Given the description of an element on the screen output the (x, y) to click on. 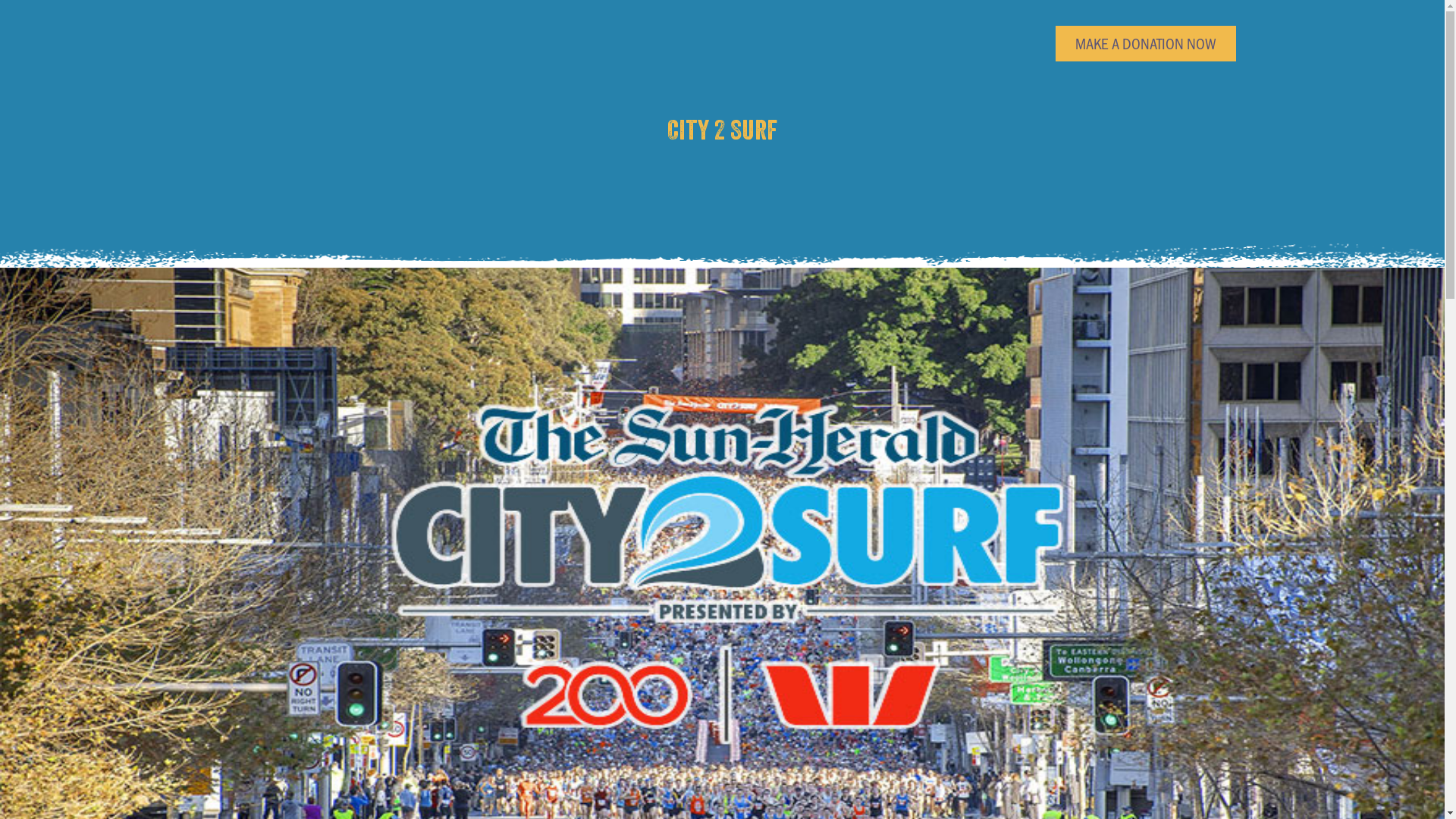
MAKE A DONATION NOW Element type: text (1145, 43)
